Given the description of an element on the screen output the (x, y) to click on. 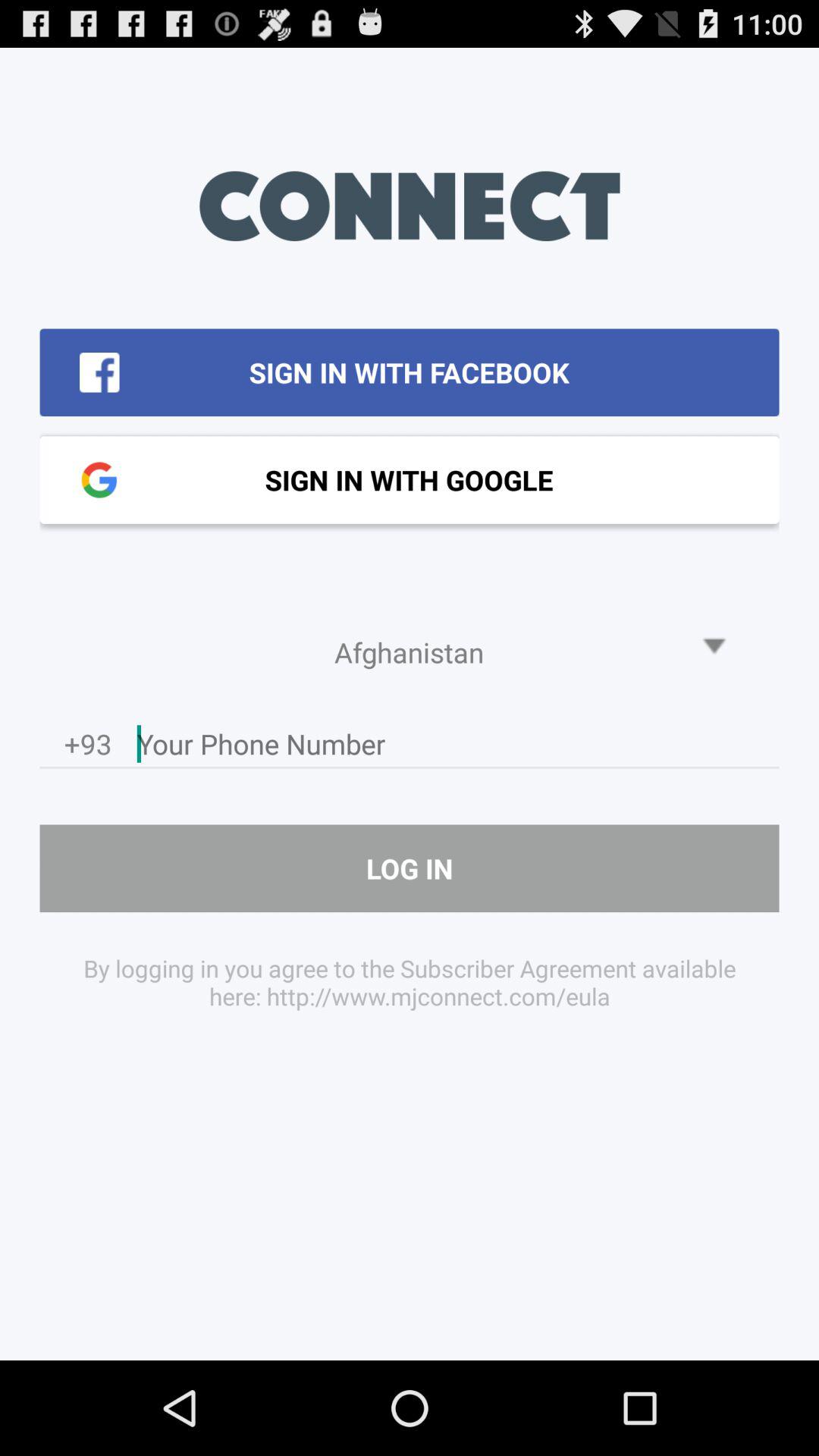
open icon above the log in (88, 747)
